Given the description of an element on the screen output the (x, y) to click on. 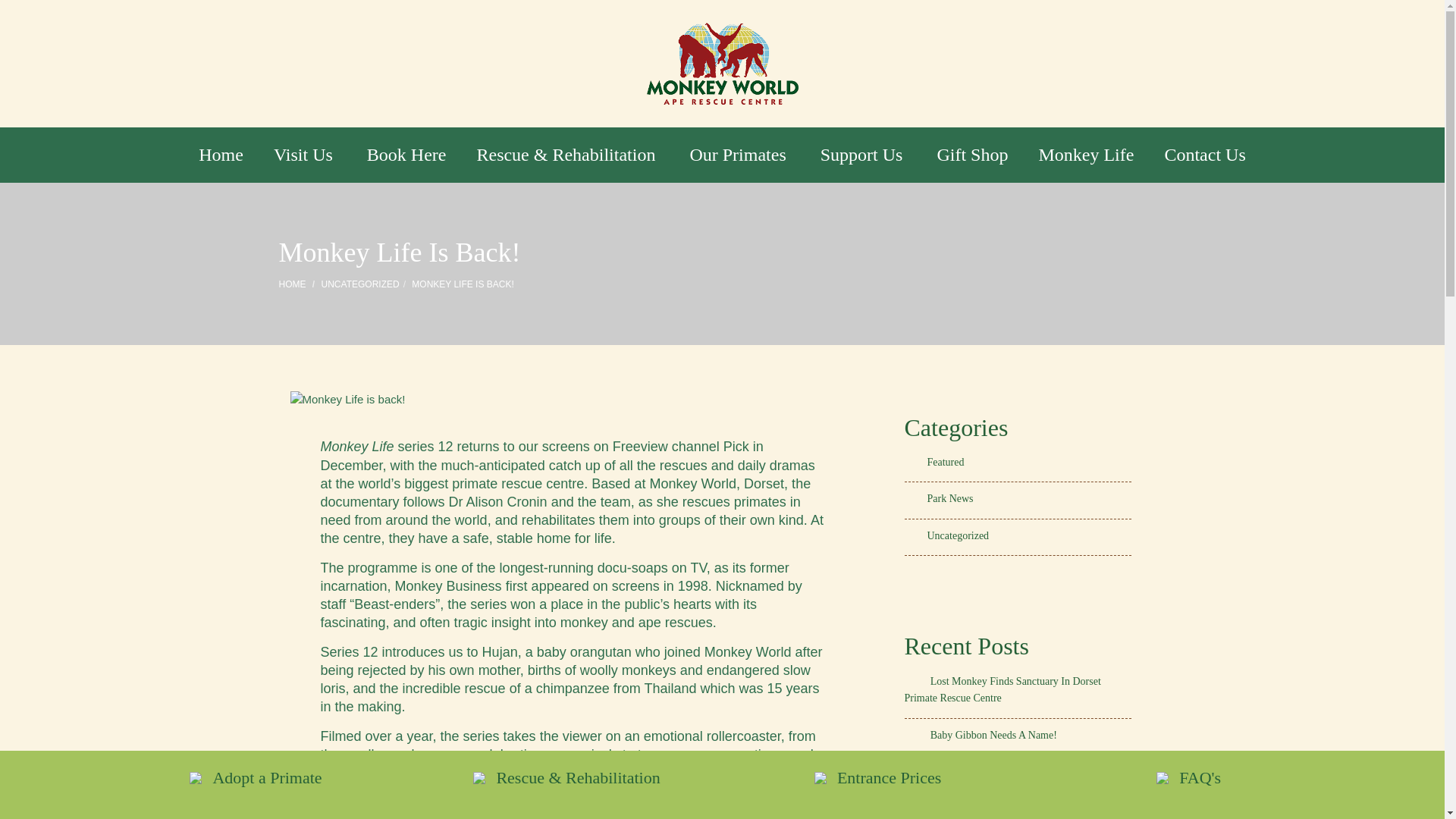
Our Primates (739, 155)
Book Here (406, 155)
Monkey World (721, 63)
Home (221, 155)
Visit Us (305, 155)
